Given the description of an element on the screen output the (x, y) to click on. 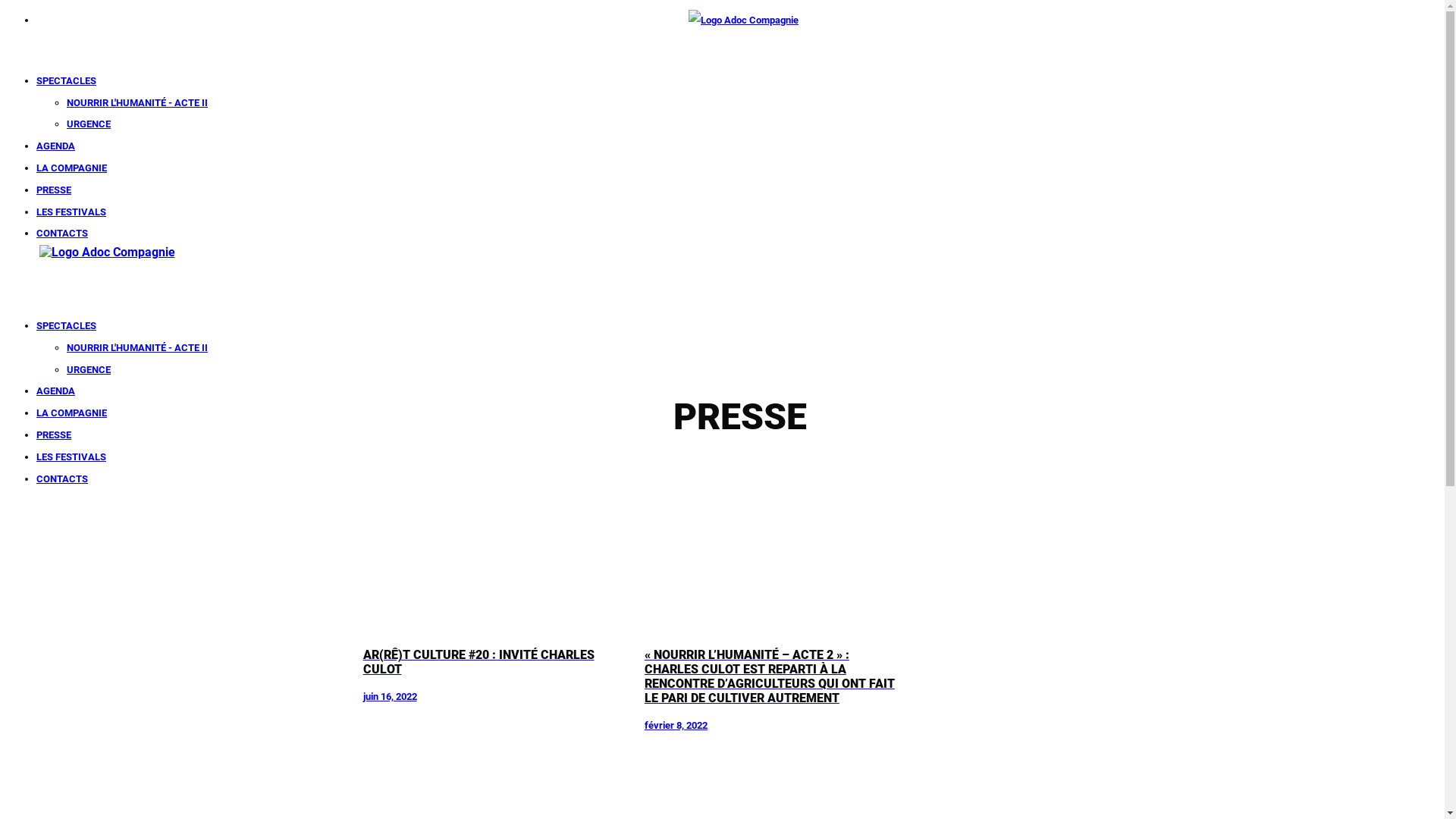
LA COMPAGNIE Element type: text (71, 412)
SPECTACLES Element type: text (66, 325)
CONTACTS Element type: text (61, 478)
URGENCE Element type: text (88, 369)
SPECTACLES Element type: text (66, 80)
AGENDA Element type: text (55, 145)
CONTACTS Element type: text (61, 232)
AGENDA Element type: text (55, 390)
URGENCE Element type: text (88, 123)
PRESSE Element type: text (53, 434)
LES FESTIVALS Element type: text (71, 456)
LES FESTIVALS Element type: text (71, 211)
PRESSE Element type: text (53, 189)
LA COMPAGNIE Element type: text (71, 167)
